Given the description of an element on the screen output the (x, y) to click on. 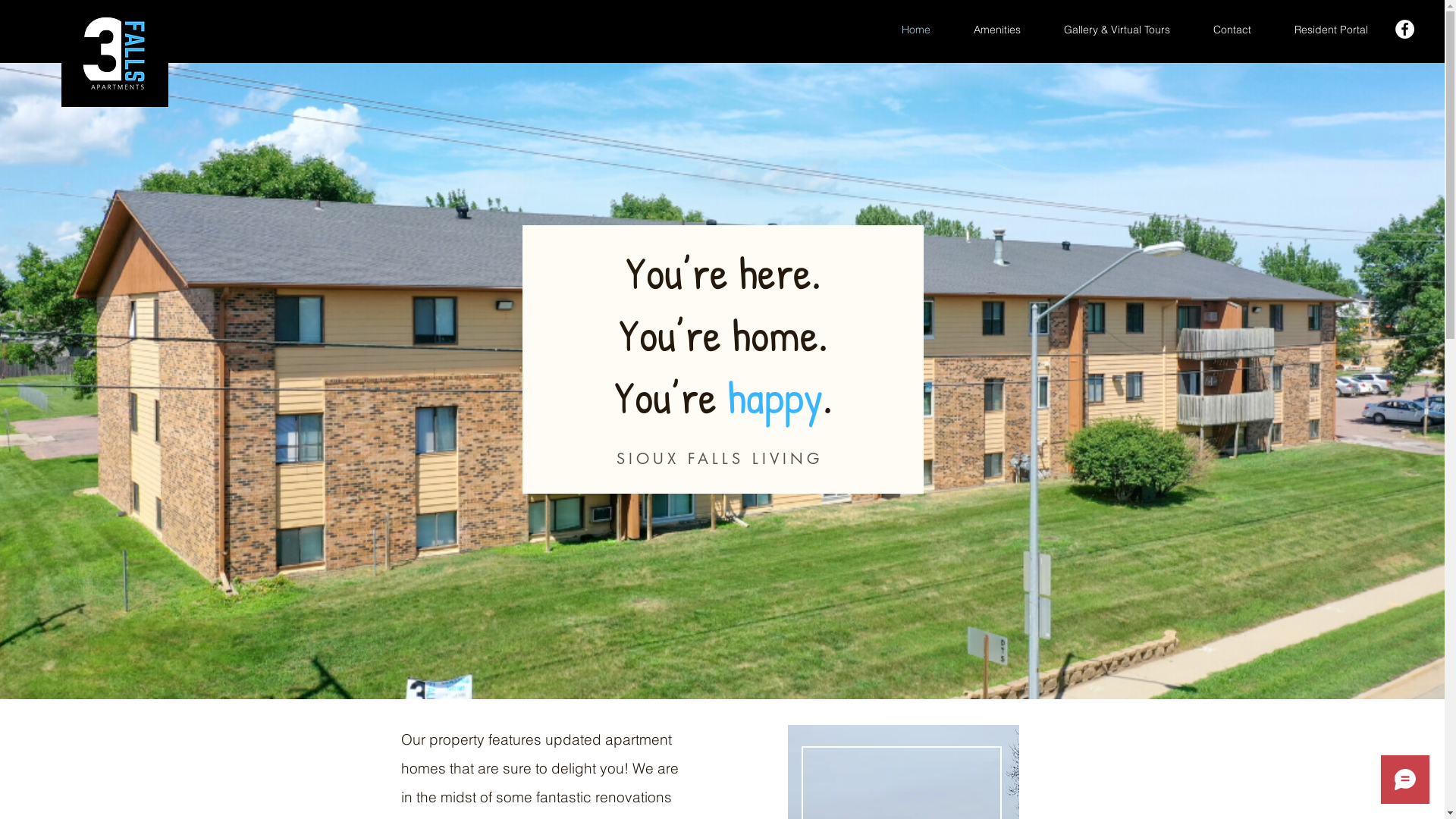
Resident Portal Element type: text (1330, 29)
Contact Element type: text (1231, 29)
Gallery & Virtual Tours Element type: text (1116, 29)
Home Element type: text (915, 29)
Amenities Element type: text (996, 29)
